Given the description of an element on the screen output the (x, y) to click on. 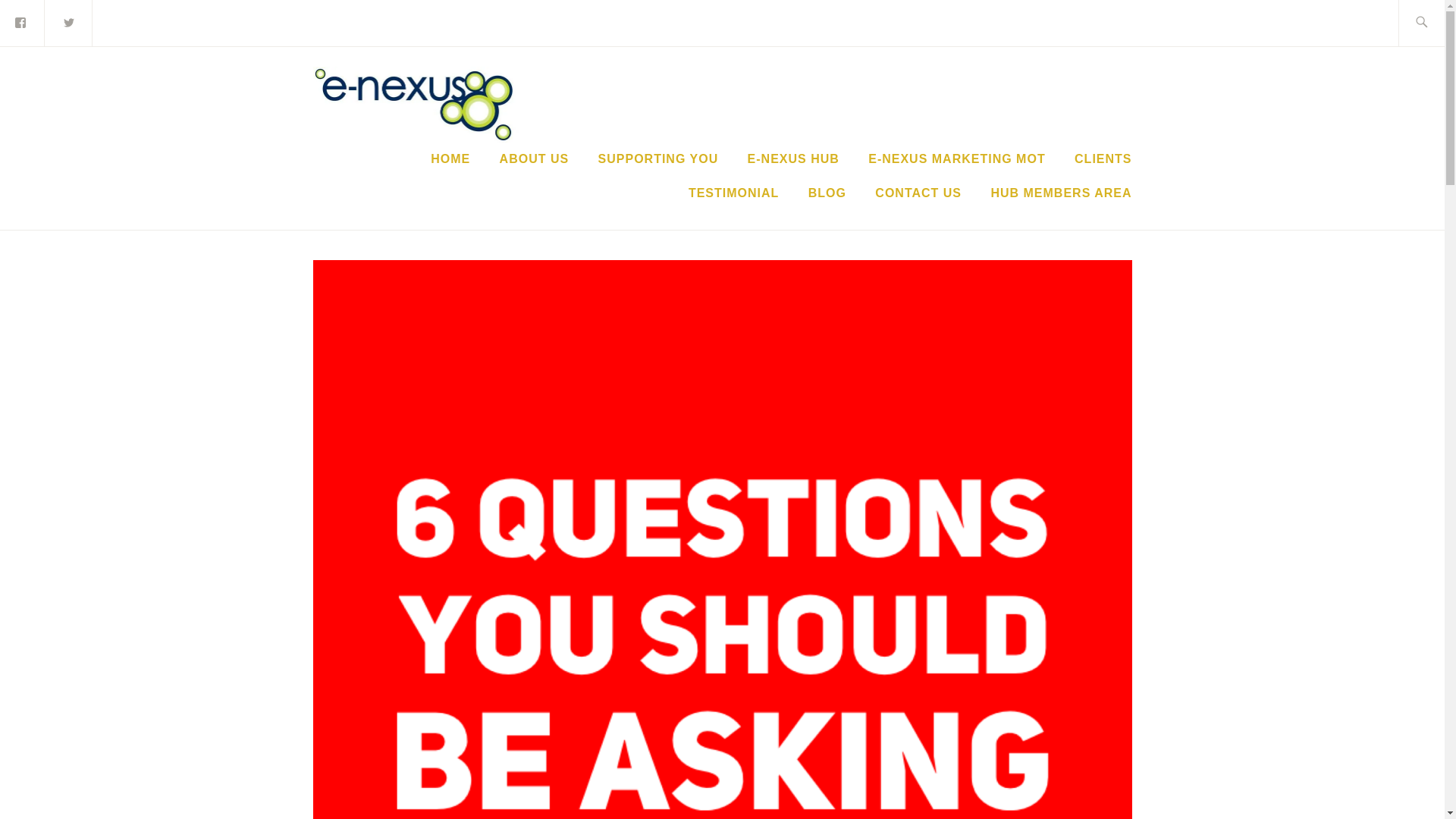
CONTACT US (917, 192)
ABOUT US (534, 159)
SUPPORTING YOU (658, 159)
CLIENTS (1102, 159)
HUB MEMBERS AREA (1060, 192)
E-NEXUS HUB (794, 159)
TESTIMONIAL (733, 192)
Search (47, 22)
E-NEXUS MARKETING MOT (956, 159)
Twitter (69, 21)
